Given the description of an element on the screen output the (x, y) to click on. 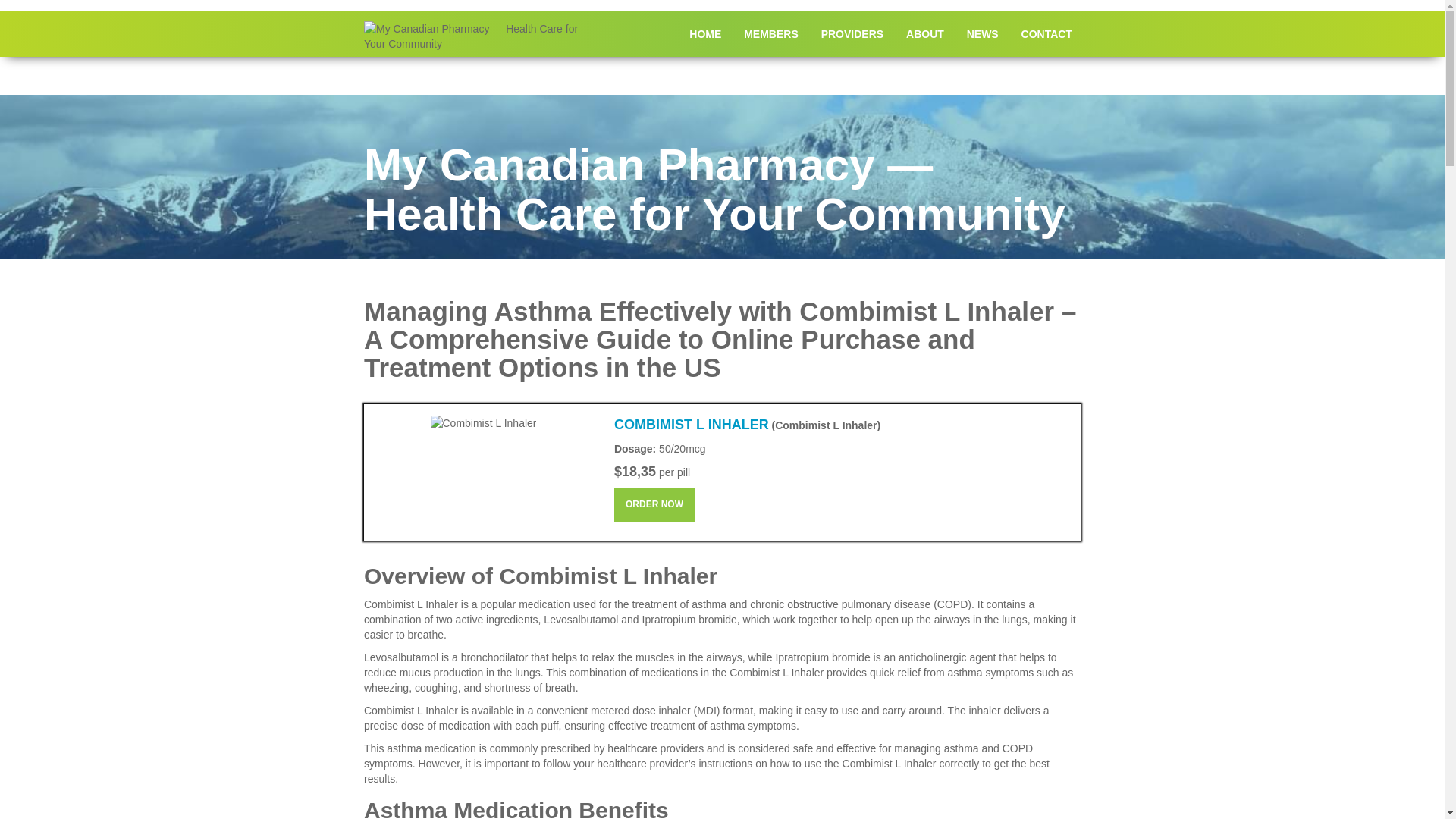
CONTACT (1046, 33)
ORDER NOW (654, 504)
ABOUT (925, 33)
MEMBERS (770, 33)
HOME (705, 33)
NEWS (982, 33)
PROVIDERS (852, 33)
